Given the description of an element on the screen output the (x, y) to click on. 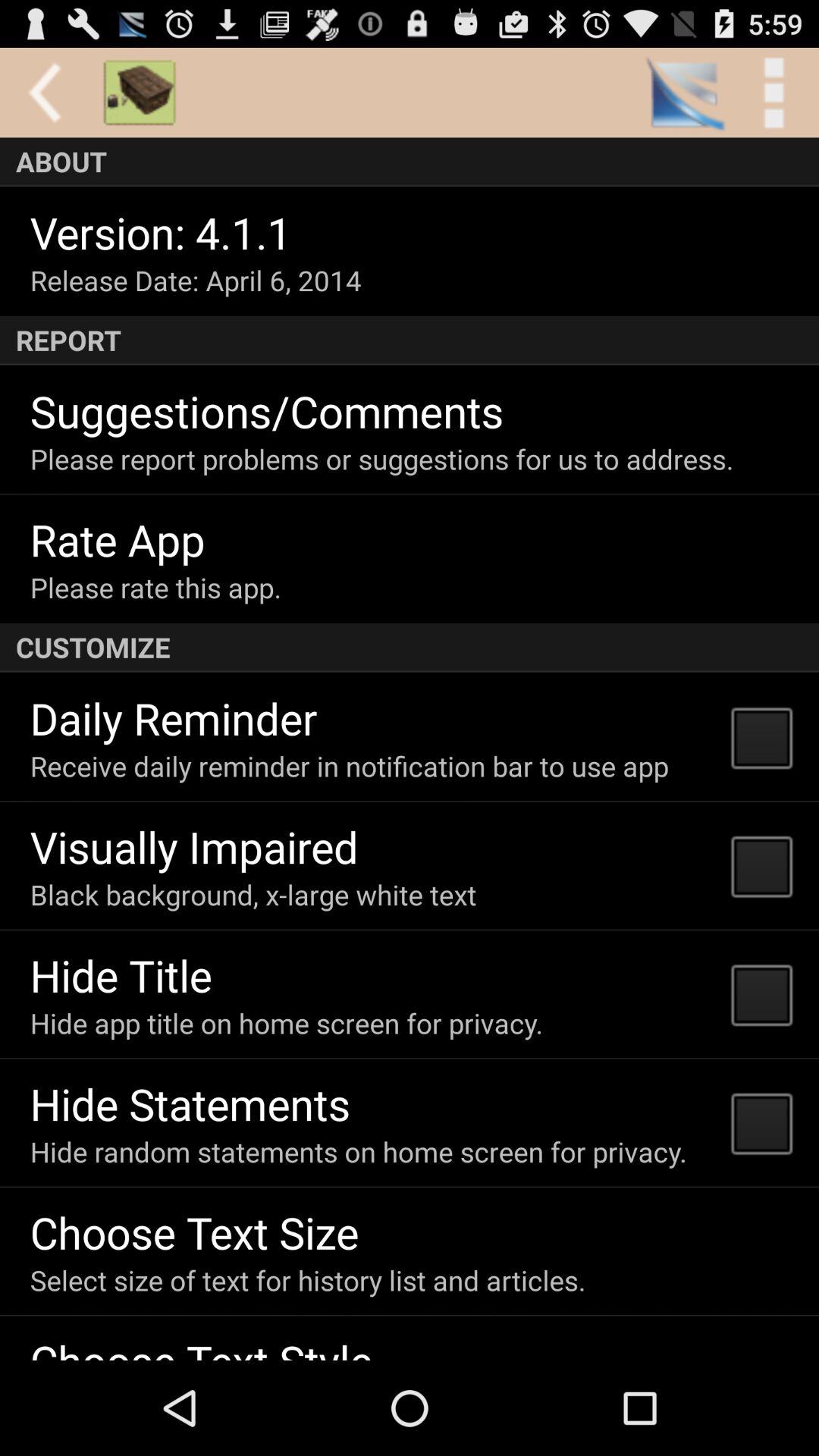
flip to suggestions/comments icon (266, 410)
